Given the description of an element on the screen output the (x, y) to click on. 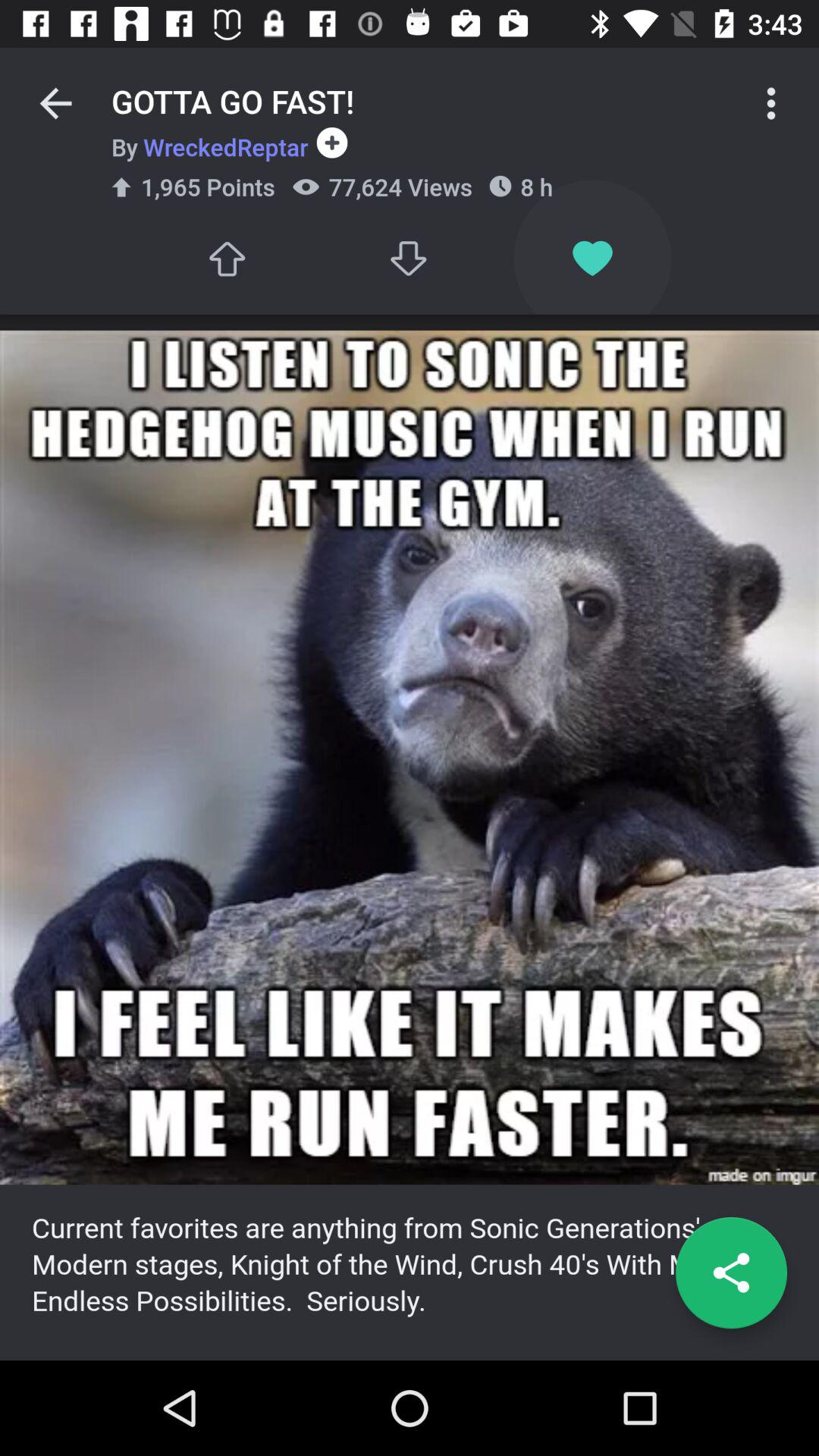
press icon to the left of the gotta go fast! icon (55, 103)
